Given the description of an element on the screen output the (x, y) to click on. 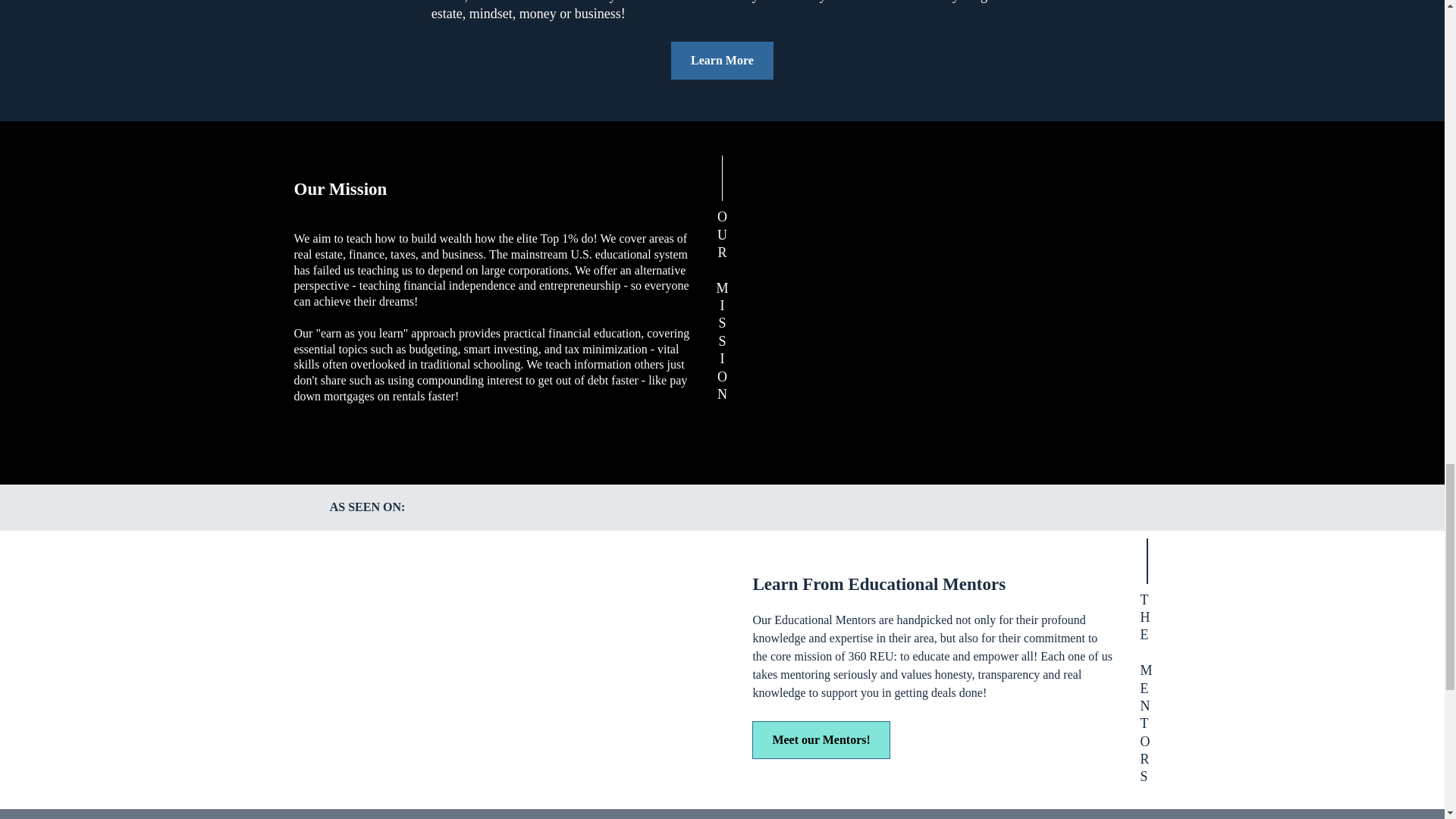
Learn More (722, 60)
Meet our Mentors! (820, 740)
